Given the description of an element on the screen output the (x, y) to click on. 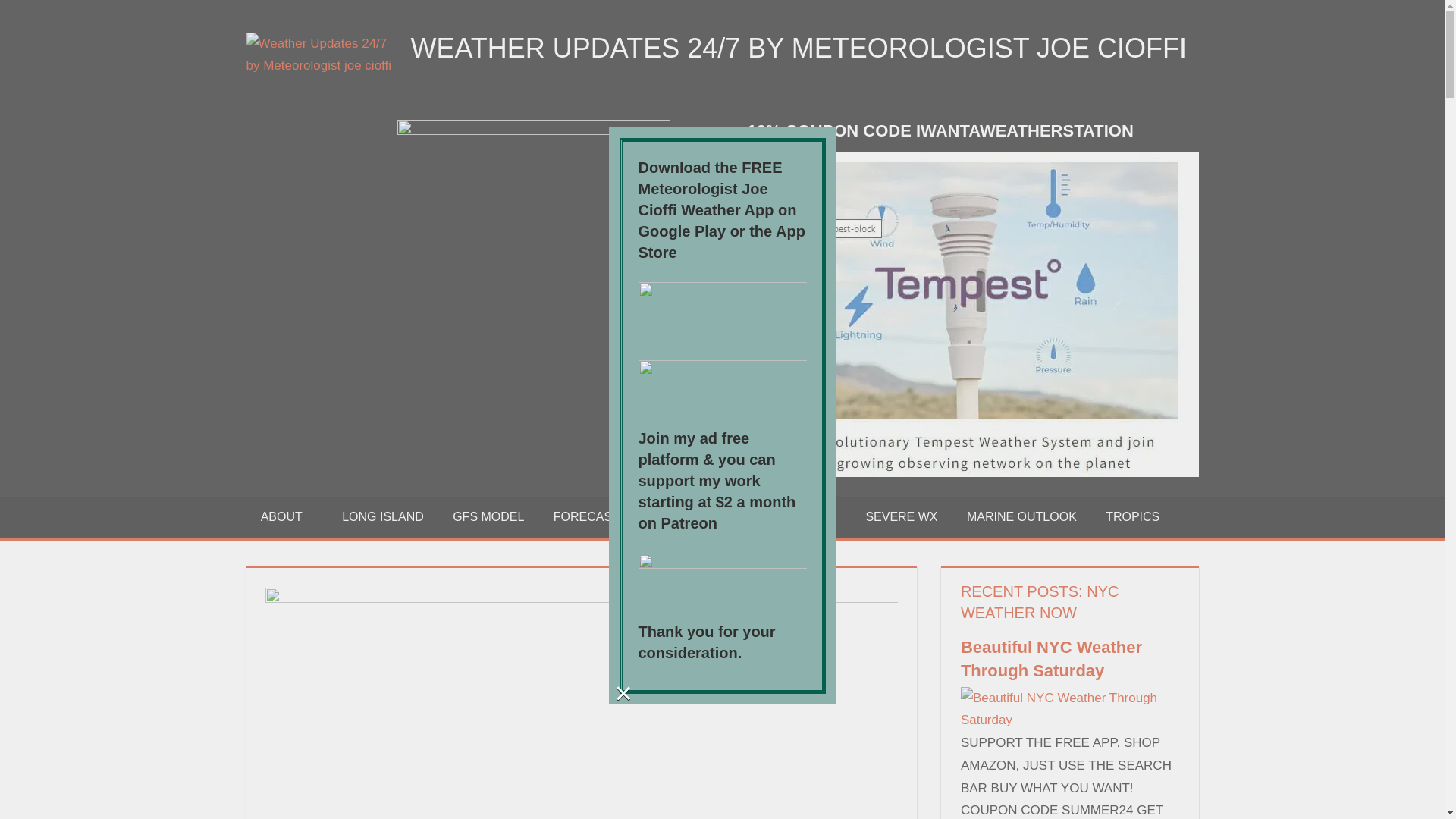
ABOUT (286, 517)
SEVERE WX (901, 517)
WINTER (695, 517)
TROPICS (1132, 517)
MARINE OUTLOOK (1021, 517)
LONG ISLAND (382, 517)
EURO MODEL (794, 517)
GFS MODEL (488, 517)
FORECASTS (595, 517)
